Given the description of an element on the screen output the (x, y) to click on. 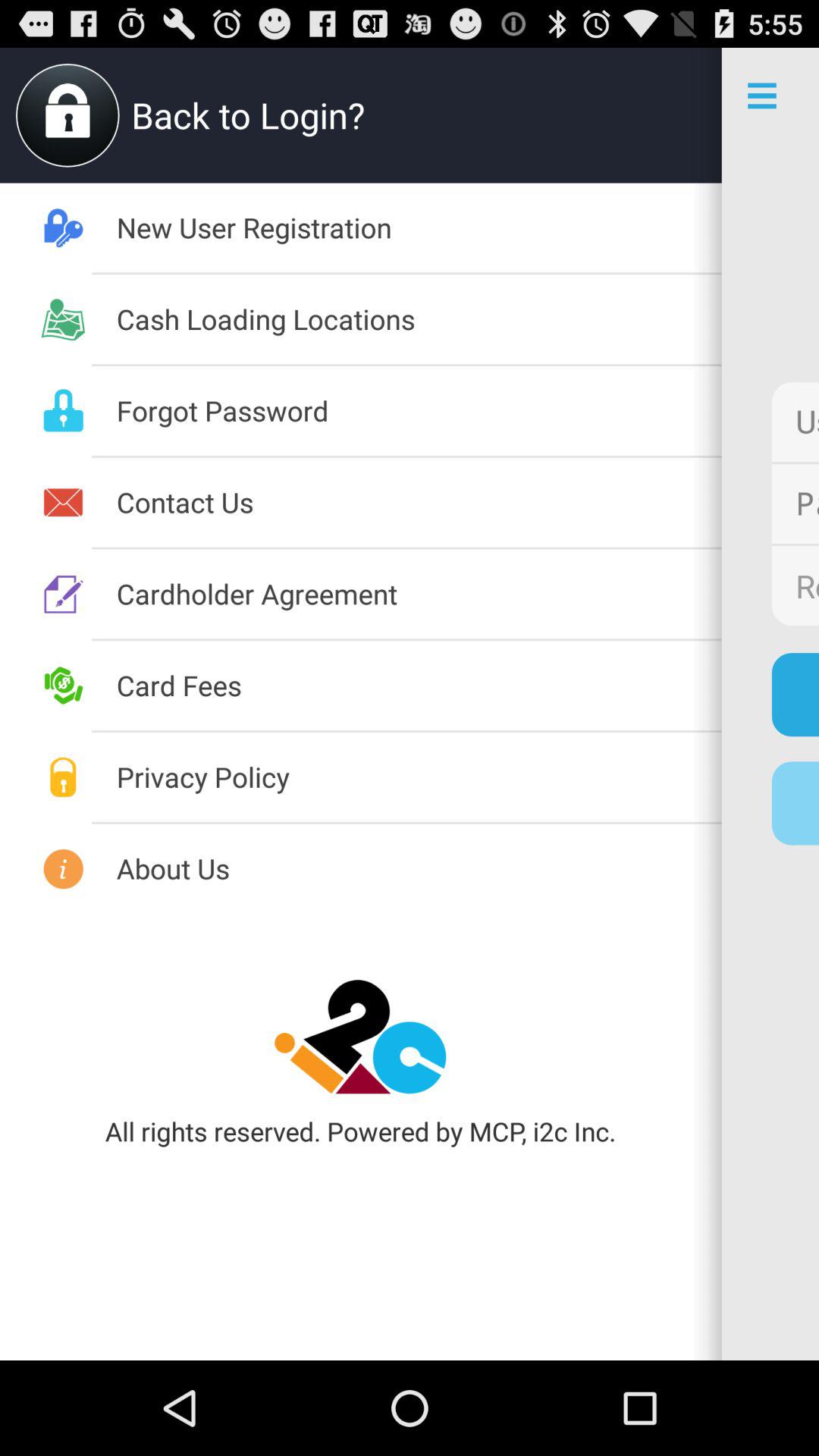
choose the icon above the all rights reserved app (360, 1036)
